Given the description of an element on the screen output the (x, y) to click on. 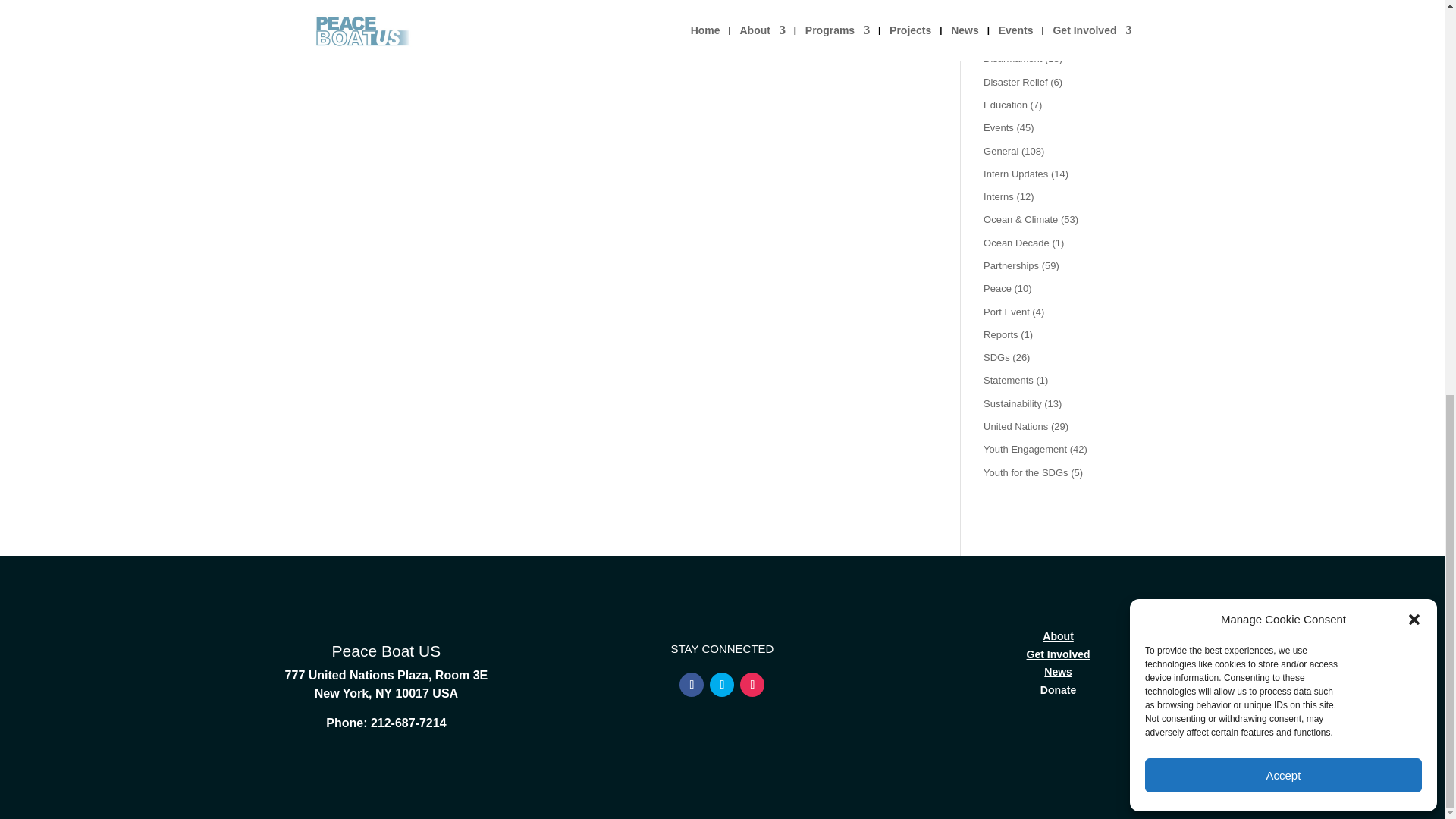
Follow on Facebook (691, 684)
Accept (1283, 15)
Follow on Instagram (751, 684)
Follow on Twitter (721, 684)
